Given the description of an element on the screen output the (x, y) to click on. 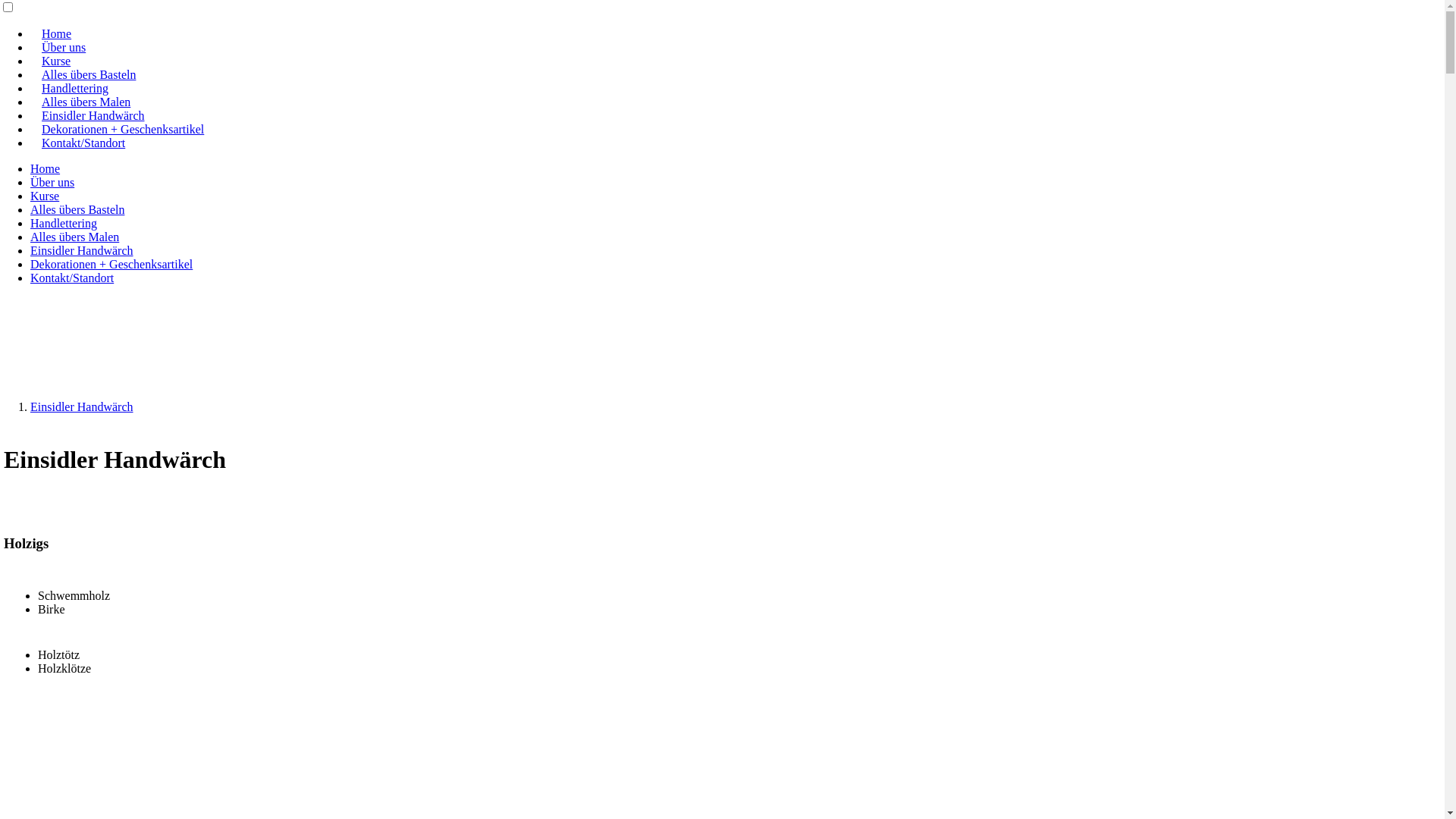
Kurse Element type: text (44, 195)
Kontakt/Standort Element type: text (83, 142)
Handlettering Element type: text (74, 88)
Home Element type: text (56, 33)
Kontakt/Standort Element type: text (71, 277)
Dekorationen + Geschenksartikel Element type: text (122, 129)
Dekorationen + Geschenksartikel Element type: text (111, 263)
Home Element type: text (44, 168)
Kurse Element type: text (55, 60)
Handlettering Element type: text (63, 222)
